Given the description of an element on the screen output the (x, y) to click on. 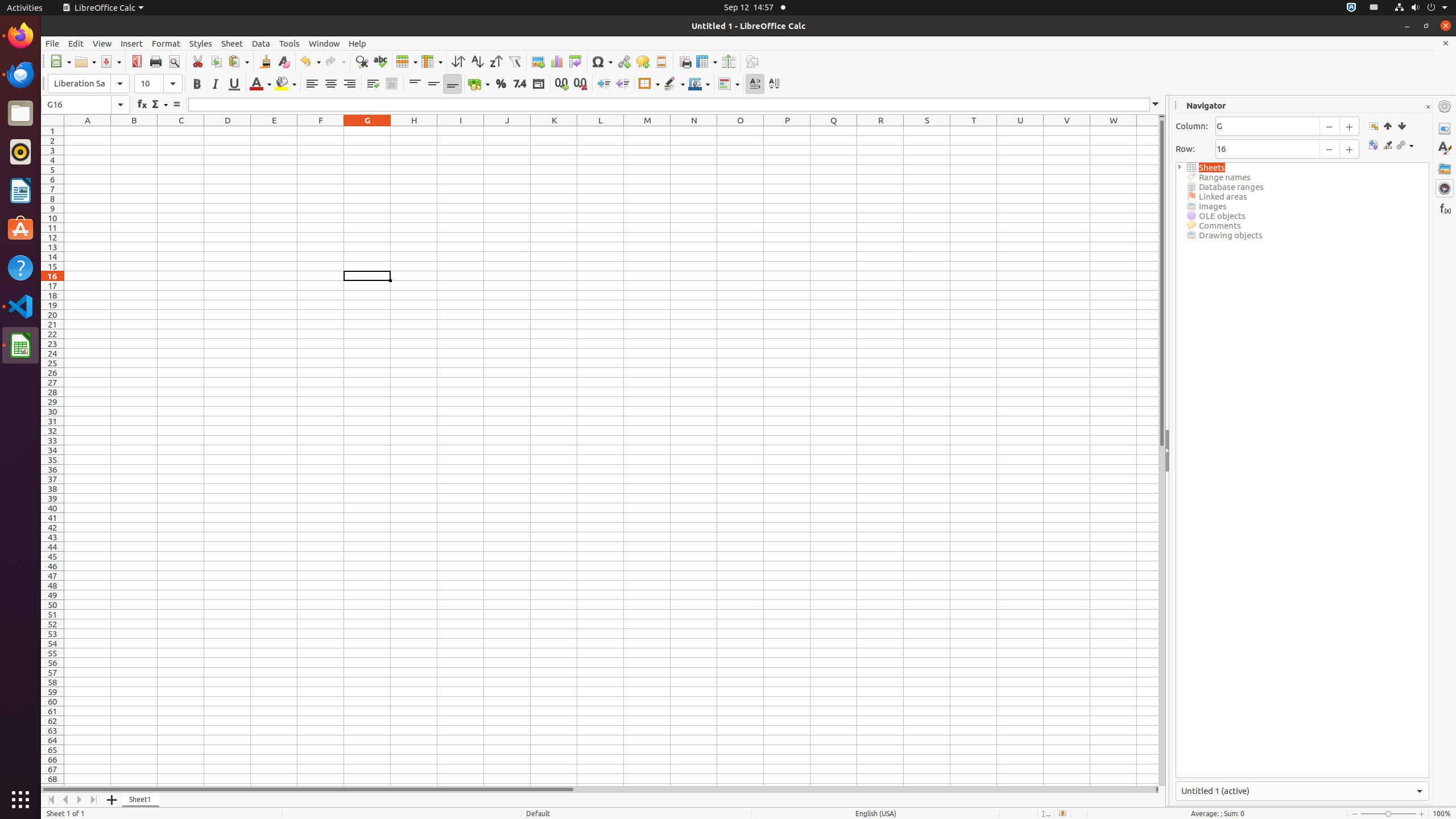
Font Name Element type: combo-box (88, 83)
Sort Ascending Element type: push-button (476, 61)
LibreOffice Calc Element type: push-button (20, 344)
Format Element type: menu (165, 43)
X1 Element type: table-cell (1147, 130)
